Given the description of an element on the screen output the (x, y) to click on. 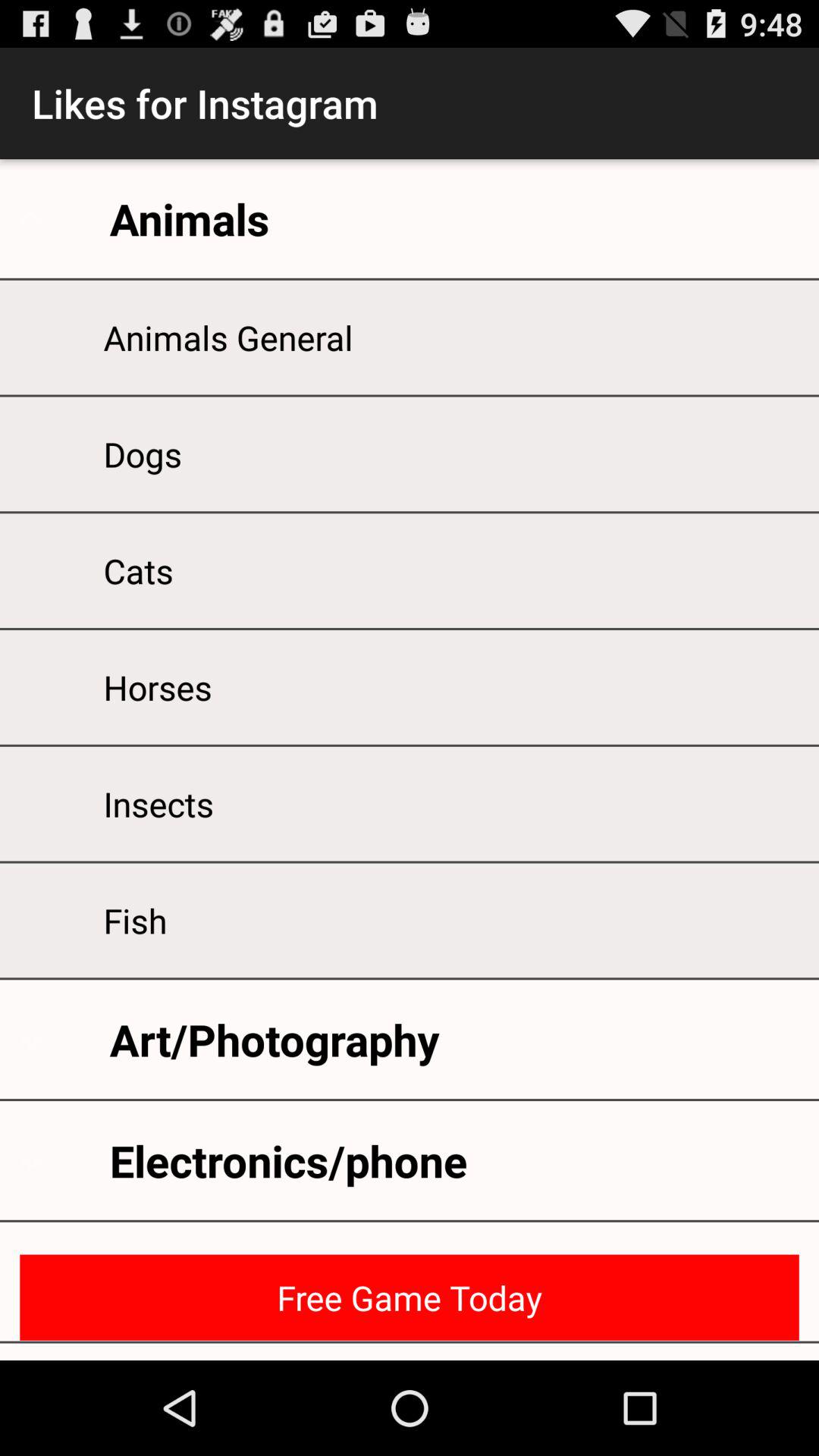
press the free game today app (409, 1297)
